Given the description of an element on the screen output the (x, y) to click on. 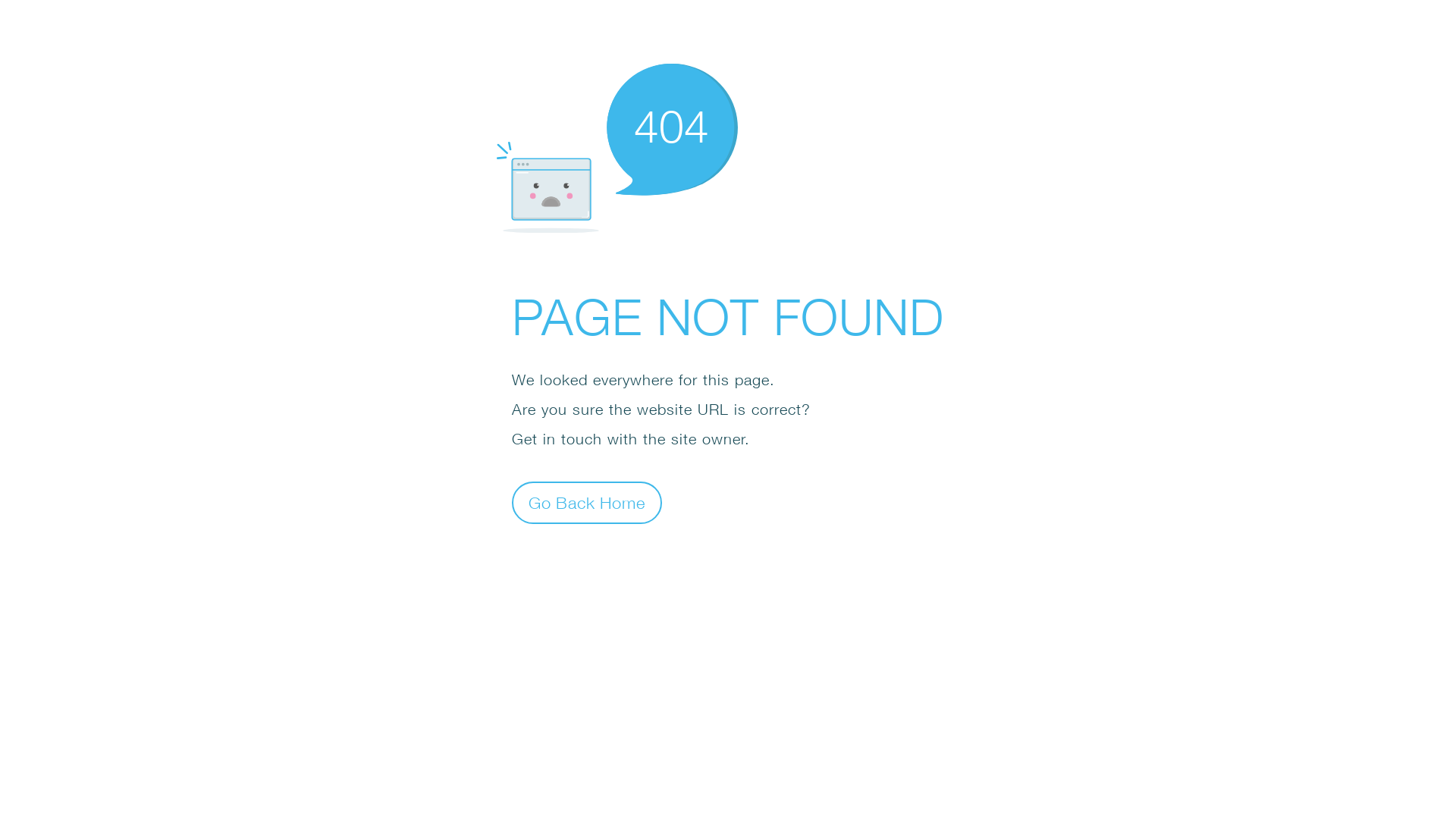
Go Back Home Element type: text (586, 502)
